Given the description of an element on the screen output the (x, y) to click on. 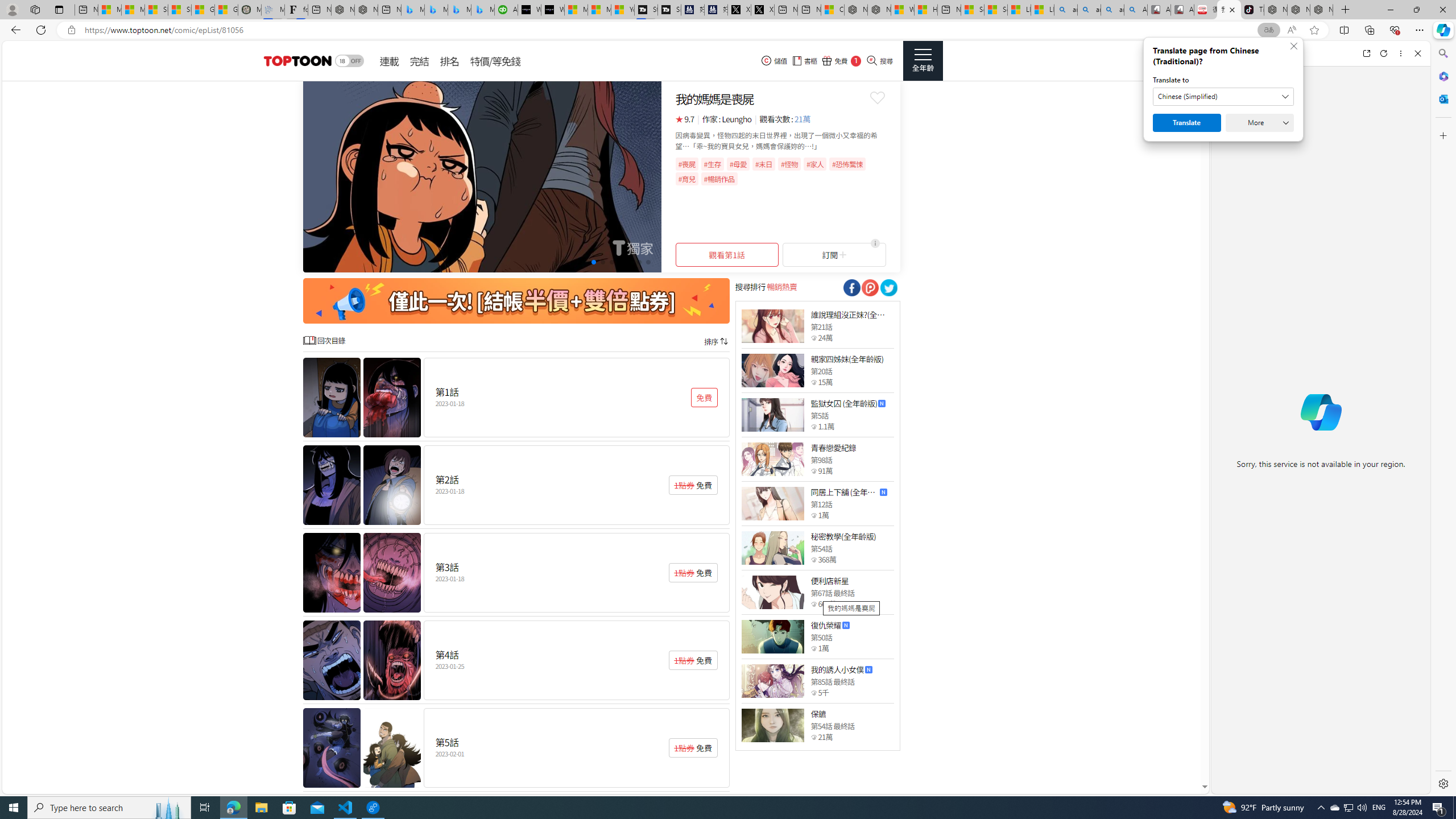
Huge shark washes ashore at New York City beach | Watch (926, 9)
Amazon Echo Robot - Search Images (1135, 9)
Class: swiper-slide swiper-slide-next (481, 176)
Nordace - Siena Pro 15 Essential Set (1321, 9)
Go to slide 5 (602, 261)
